Given the description of an element on the screen output the (x, y) to click on. 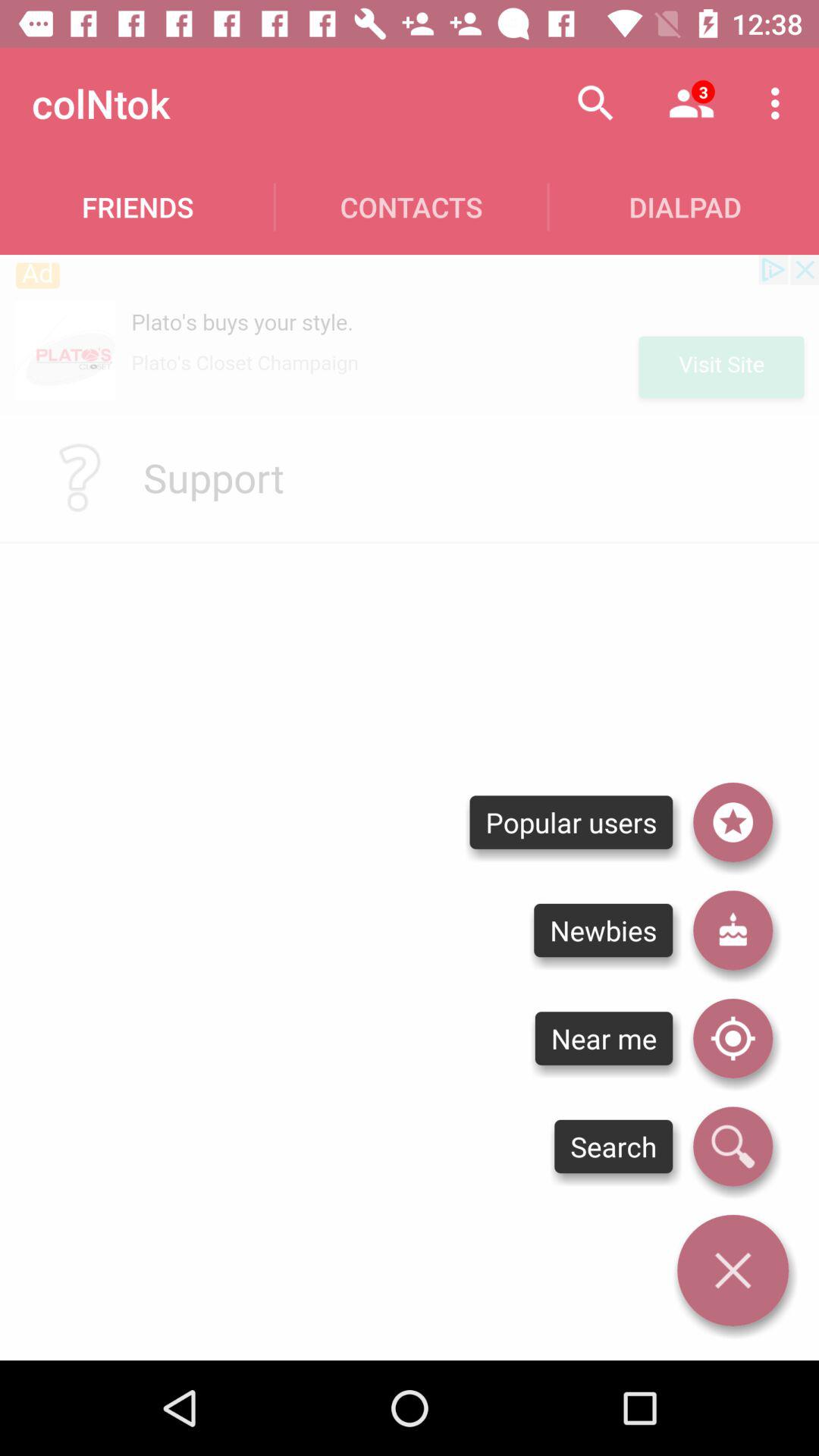
search feature (733, 1146)
